Given the description of an element on the screen output the (x, y) to click on. 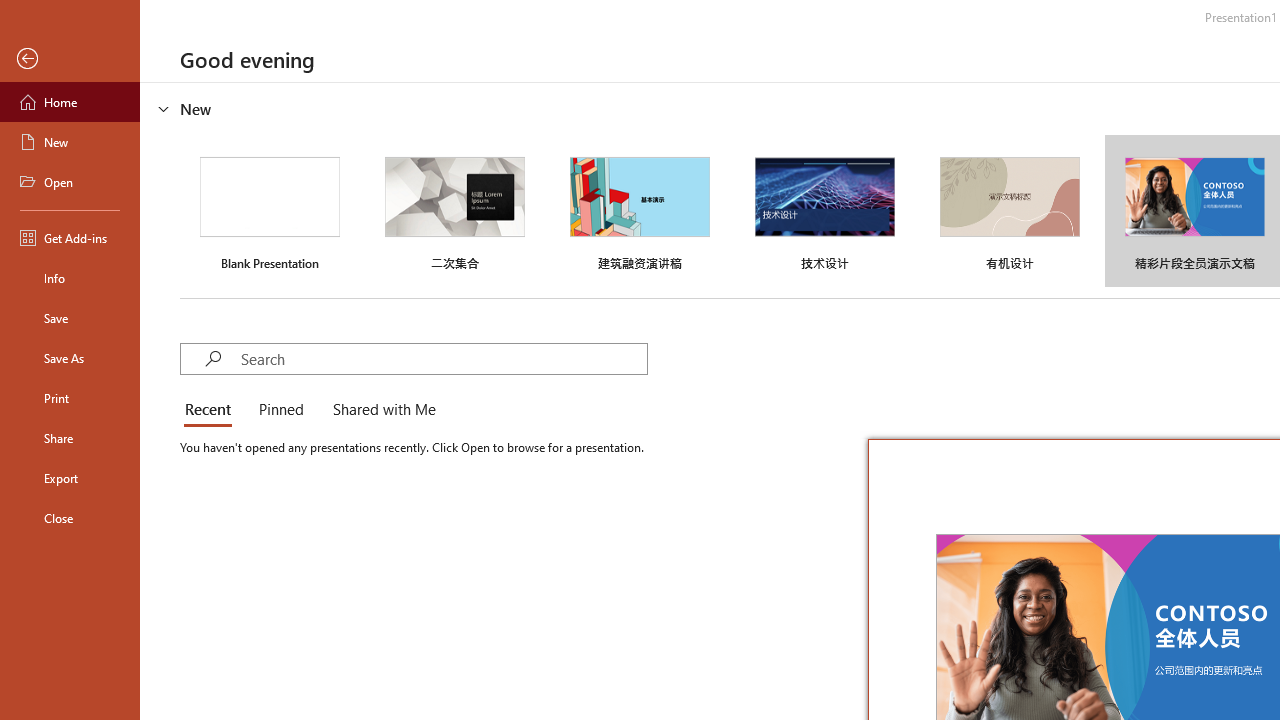
Recent (212, 410)
Export (69, 477)
Info (69, 277)
Pinned (280, 410)
